Given the description of an element on the screen output the (x, y) to click on. 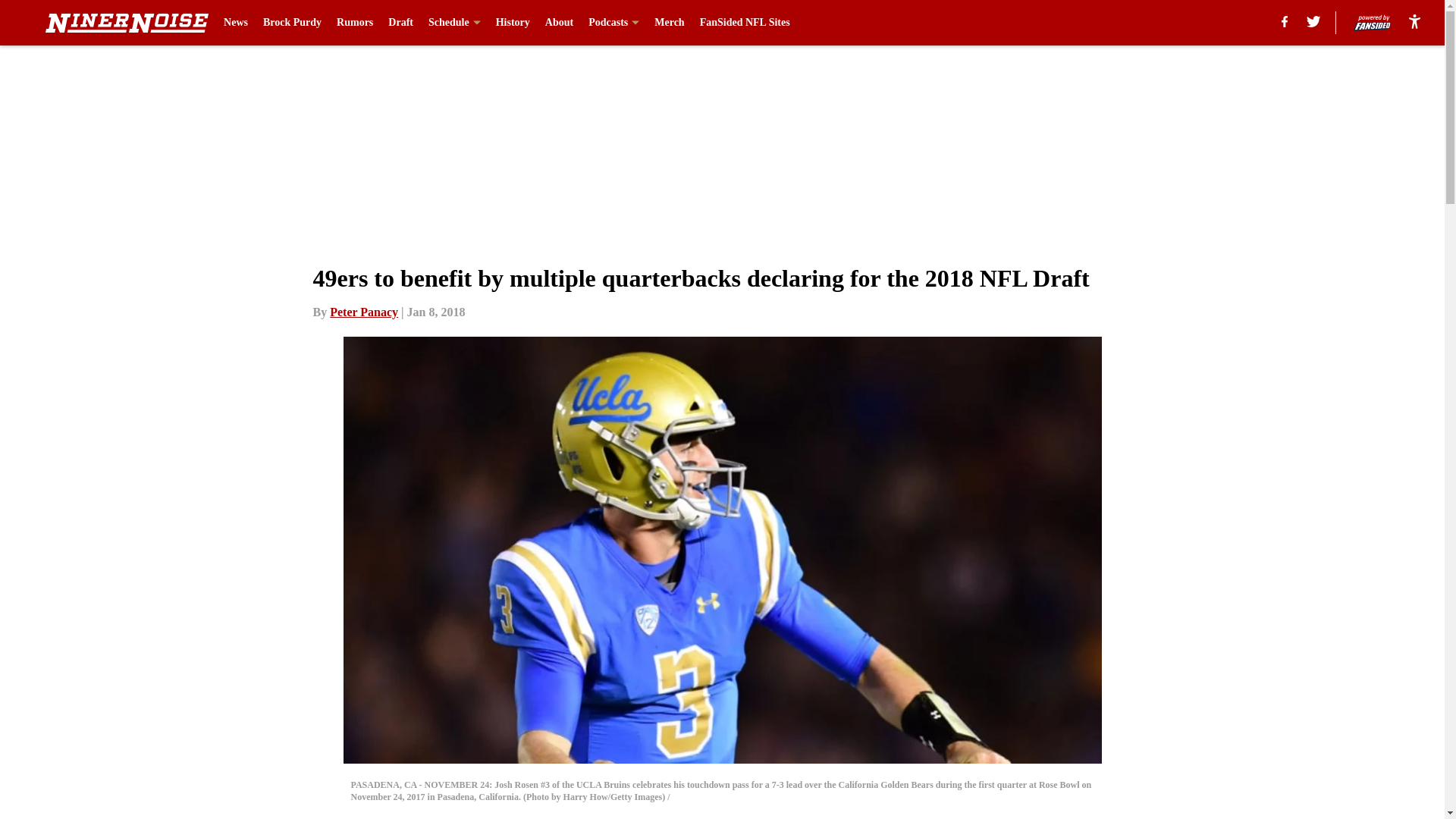
Peter Panacy (363, 311)
FanSided NFL Sites (745, 22)
News (235, 22)
Brock Purdy (292, 22)
History (512, 22)
Rumors (354, 22)
Draft (400, 22)
Merch (668, 22)
About (558, 22)
